Given the description of an element on the screen output the (x, y) to click on. 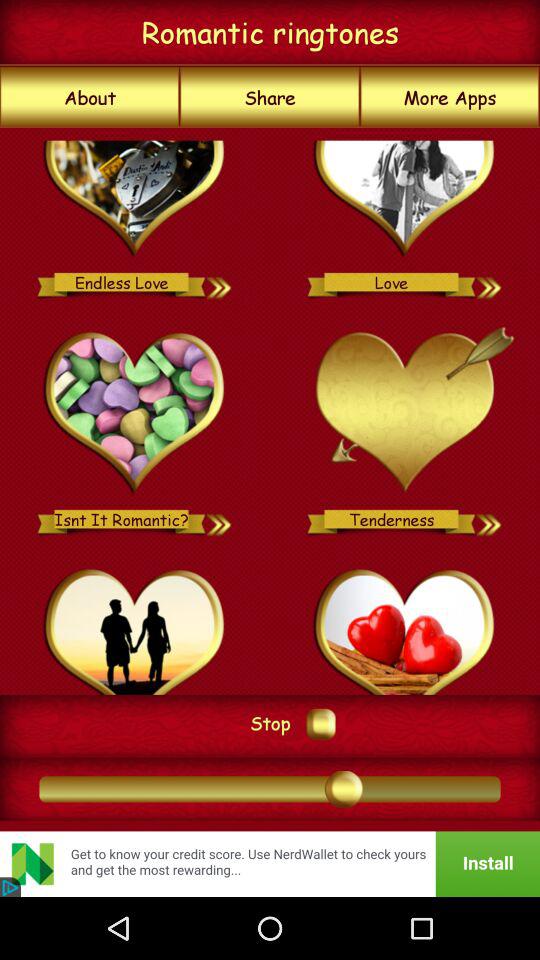
advertisement banner (270, 864)
